Given the description of an element on the screen output the (x, y) to click on. 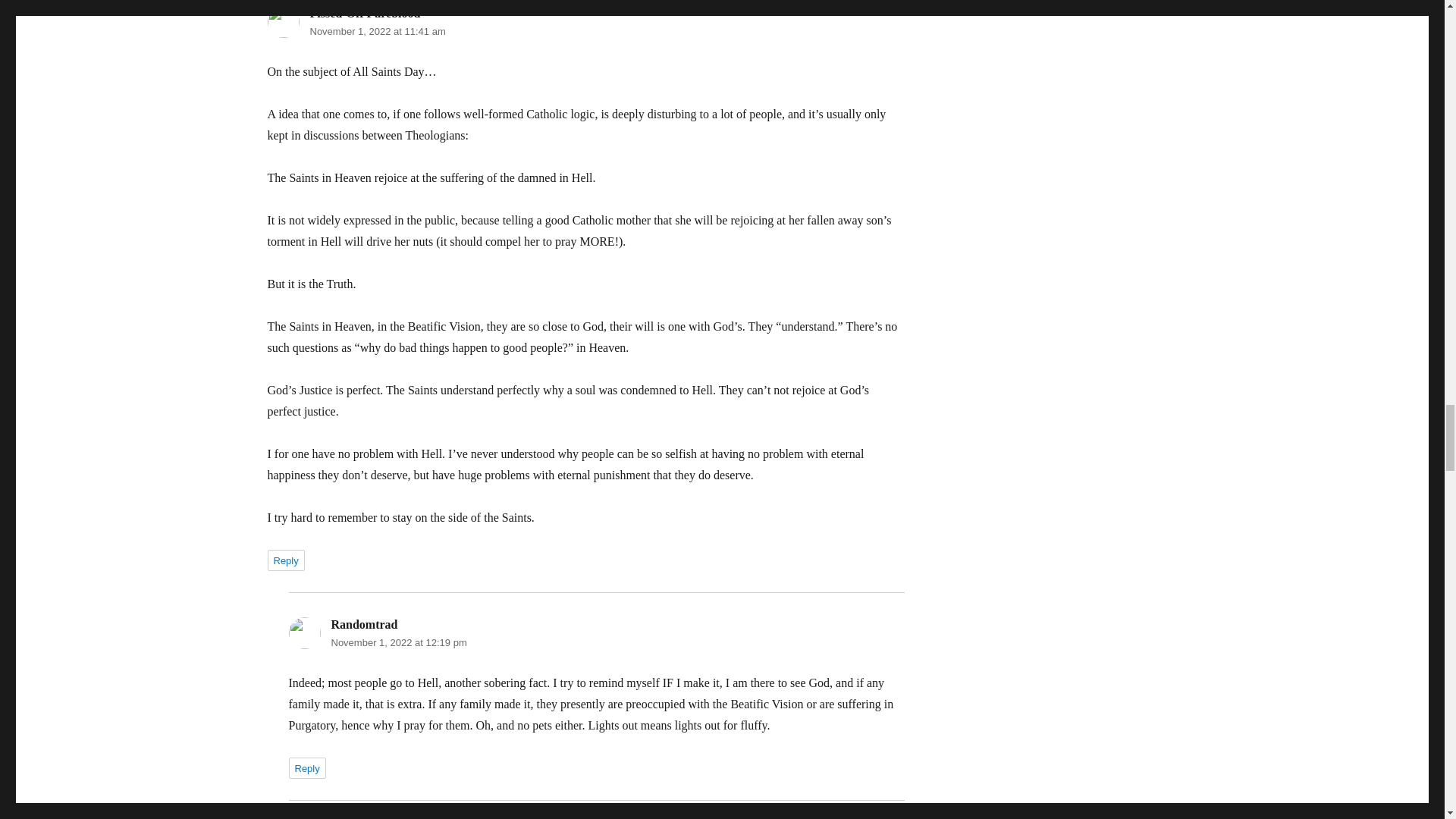
Reply (285, 559)
Reply (306, 767)
November 1, 2022 at 12:19 pm (397, 642)
November 1, 2022 at 11:41 am (376, 30)
